Given the description of an element on the screen output the (x, y) to click on. 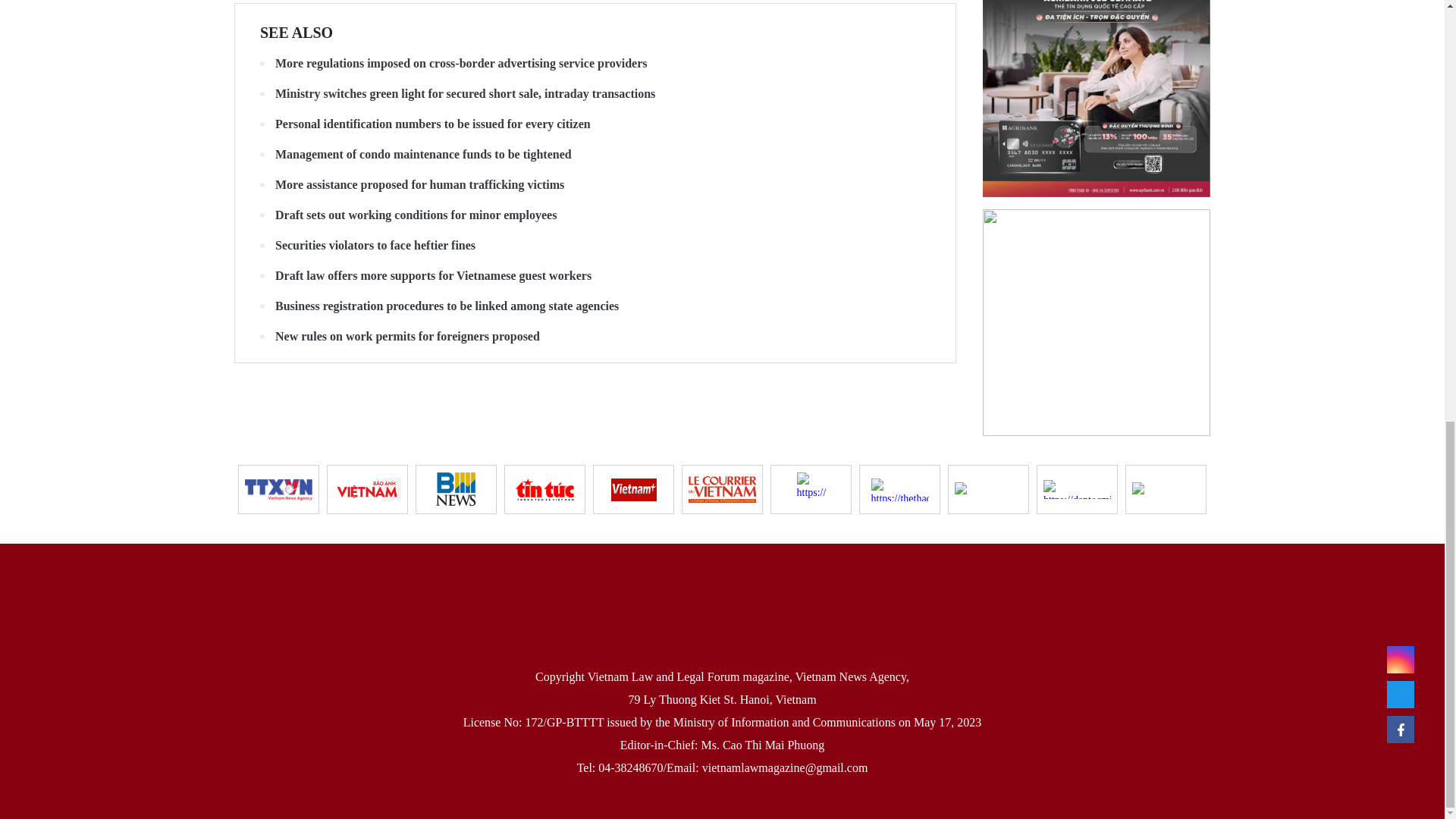
Management of condo maintenance funds to be tightened (595, 154)
Draft sets out working conditions for minor employees (595, 215)
More assistance proposed for human trafficking victims (595, 184)
SEE ALSO (296, 32)
